Given the description of an element on the screen output the (x, y) to click on. 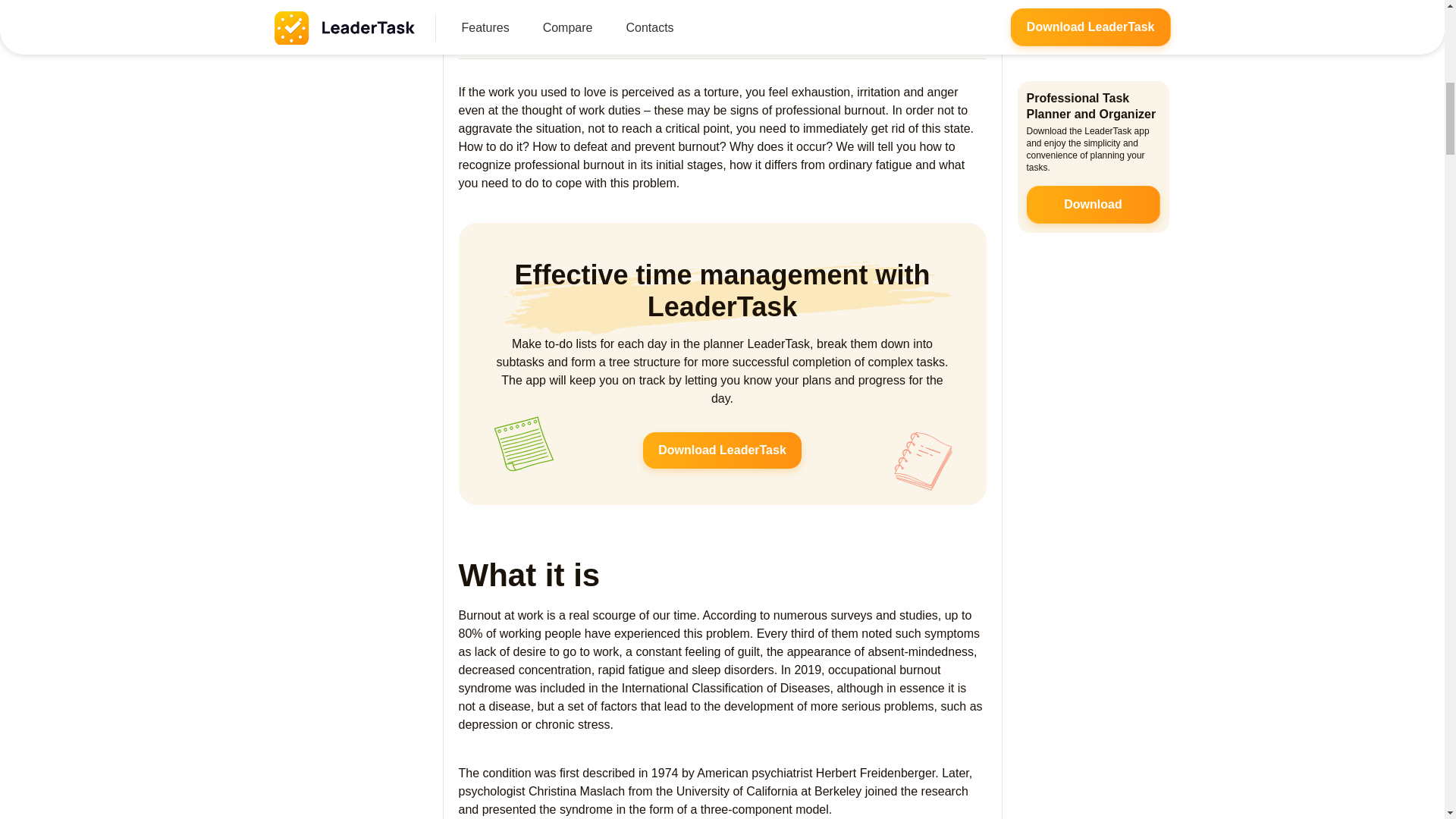
Download LeaderTask (722, 450)
Download (1093, 114)
